Given the description of an element on the screen output the (x, y) to click on. 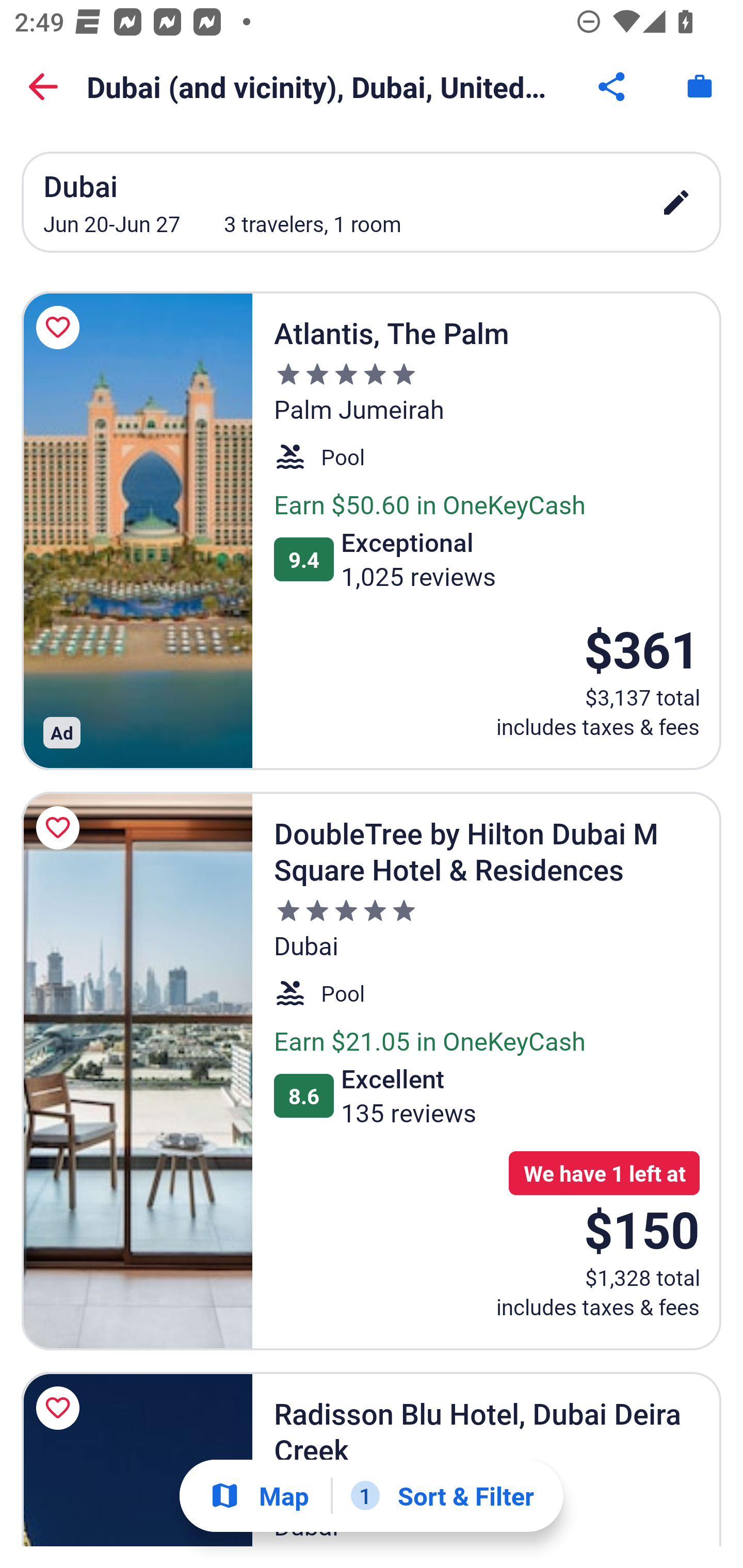
Back (43, 86)
Share Button (612, 86)
Trips. Button (699, 86)
Dubai Jun 20-Jun 27 3 travelers, 1 room edit (371, 202)
Save Atlantis, The Palm to a trip (61, 327)
Atlantis, The Palm (136, 530)
1 Sort & Filter 1 Filter applied. Filters Button (442, 1495)
Show map Map Show map Button (258, 1495)
